Given the description of an element on the screen output the (x, y) to click on. 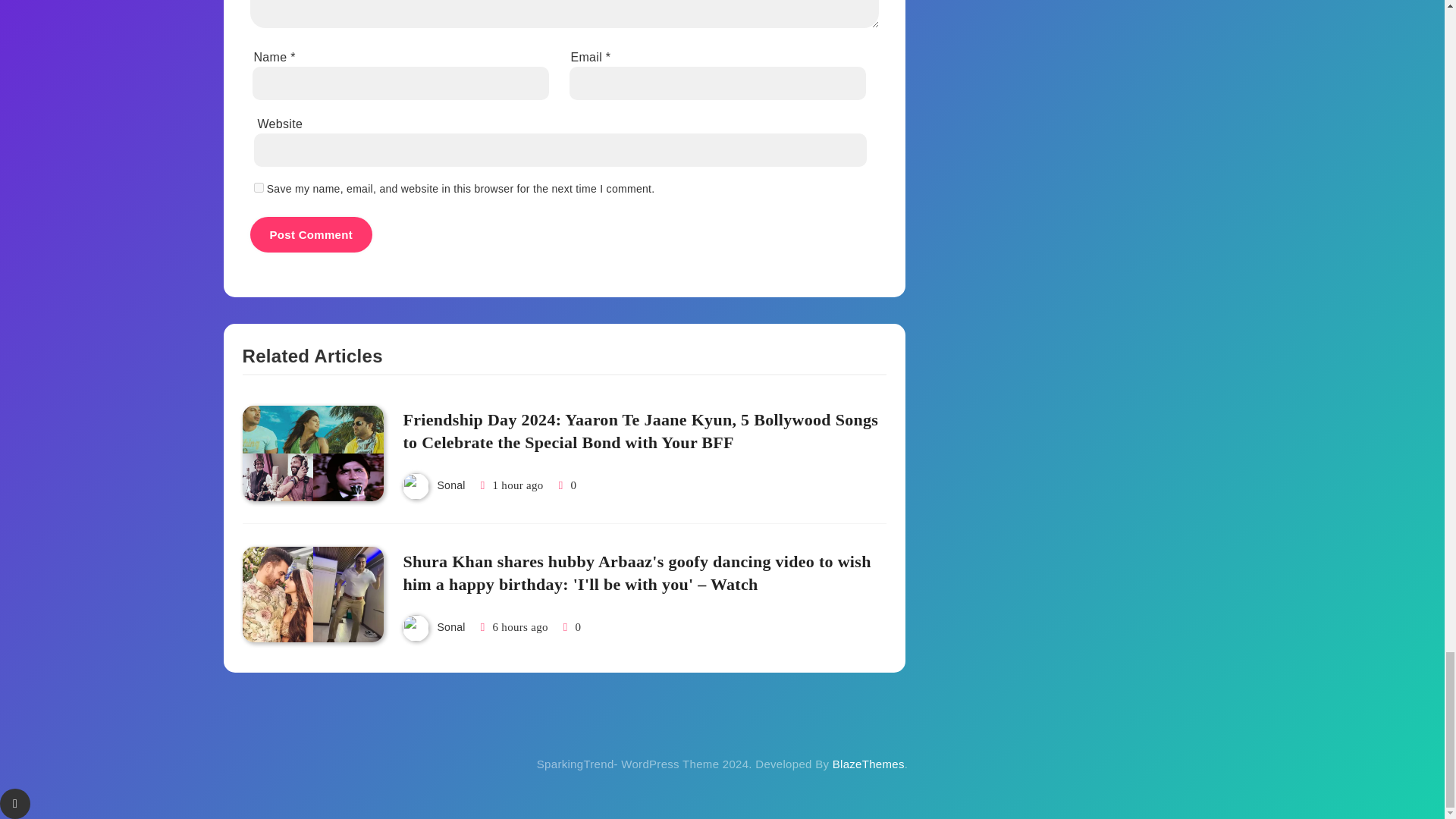
0 (565, 484)
Sonal (450, 626)
Post Comment (311, 234)
1 hour ago (518, 485)
Sonal (450, 485)
yes (258, 187)
Post Comment (311, 234)
